Given the description of an element on the screen output the (x, y) to click on. 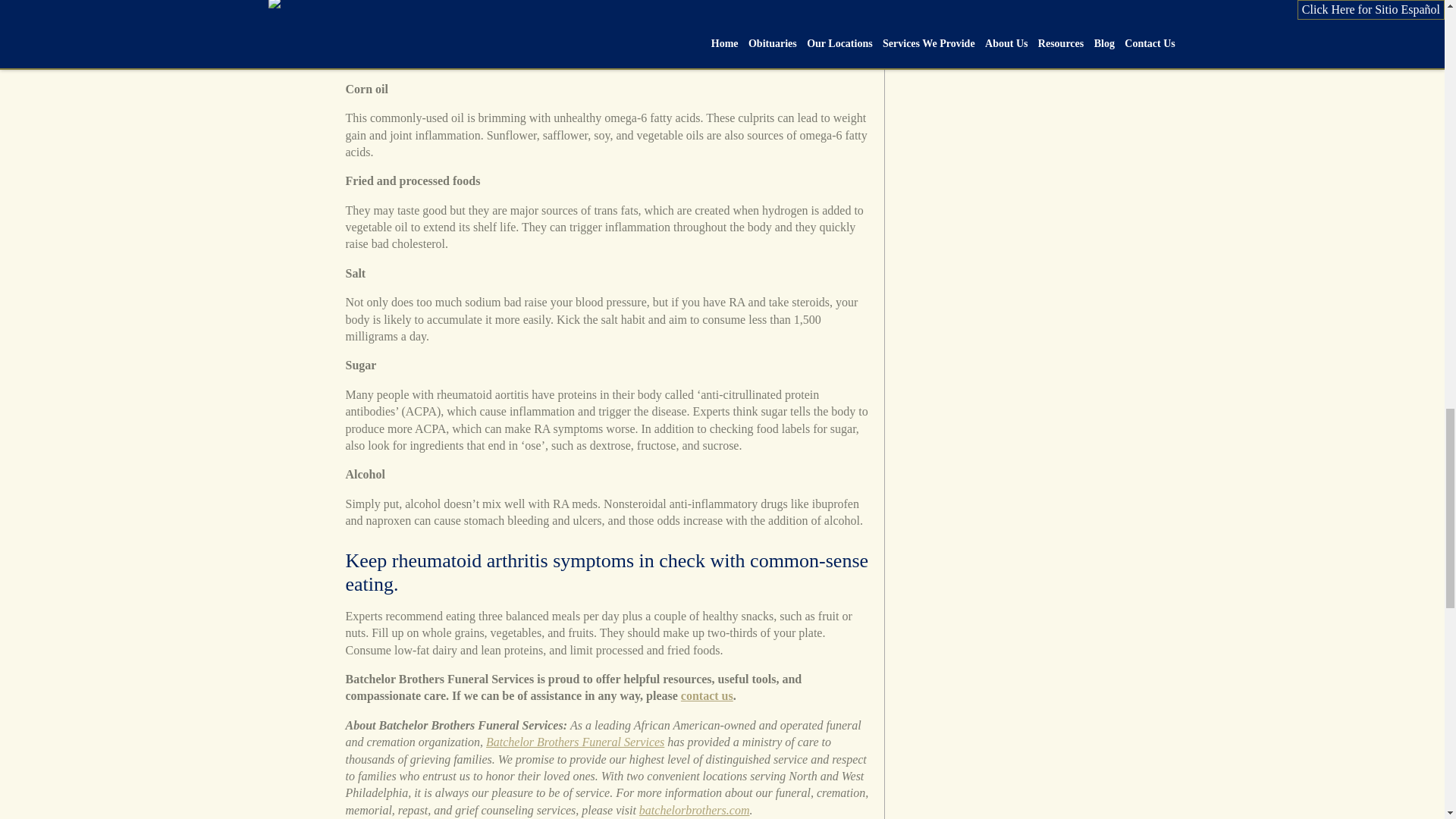
Batchelor Brothers Funeral Services (574, 741)
contact us (707, 695)
batchelorbrothers.com (694, 809)
